Given the description of an element on the screen output the (x, y) to click on. 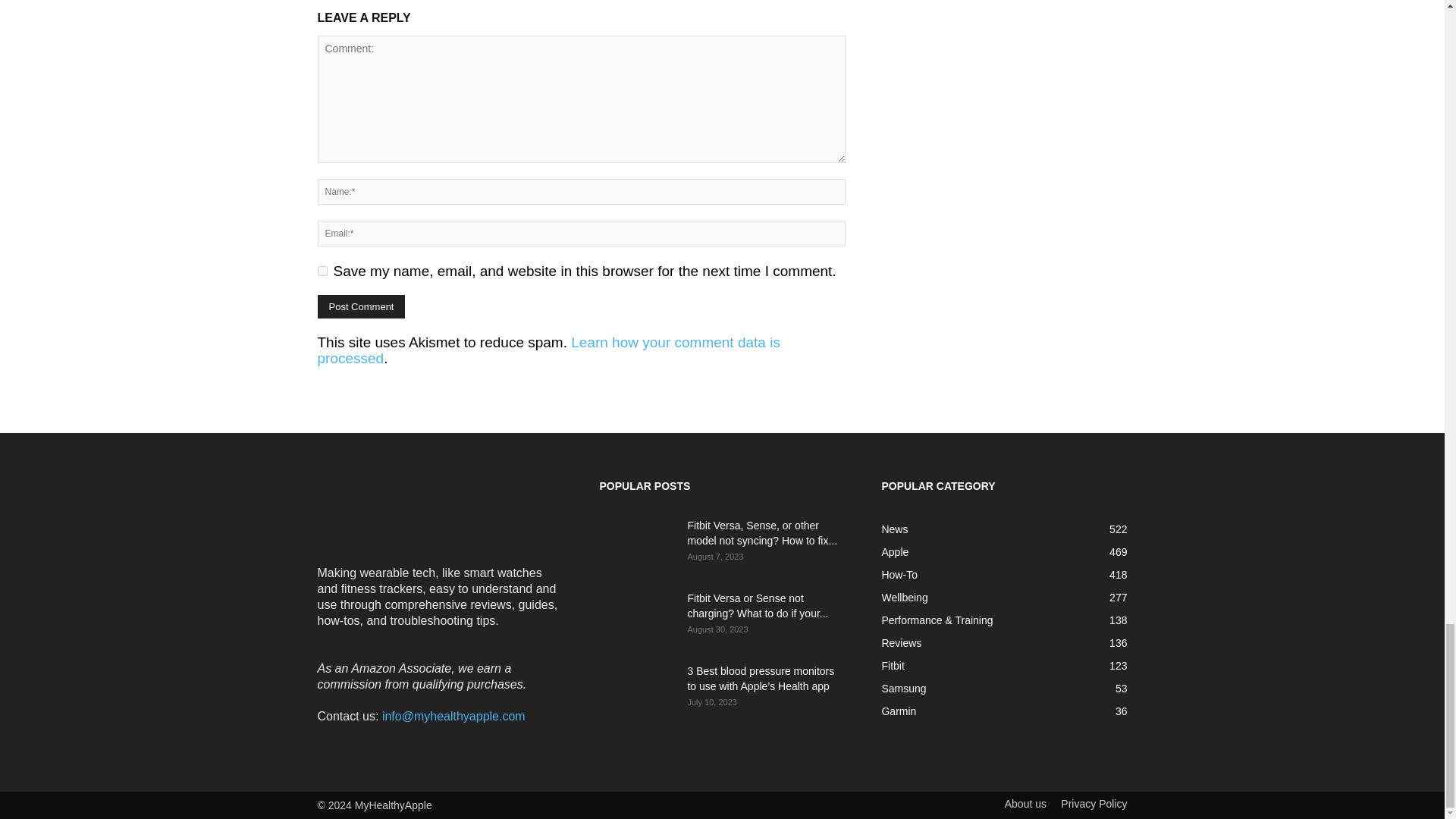
yes (321, 271)
Post Comment (360, 306)
